Given the description of an element on the screen output the (x, y) to click on. 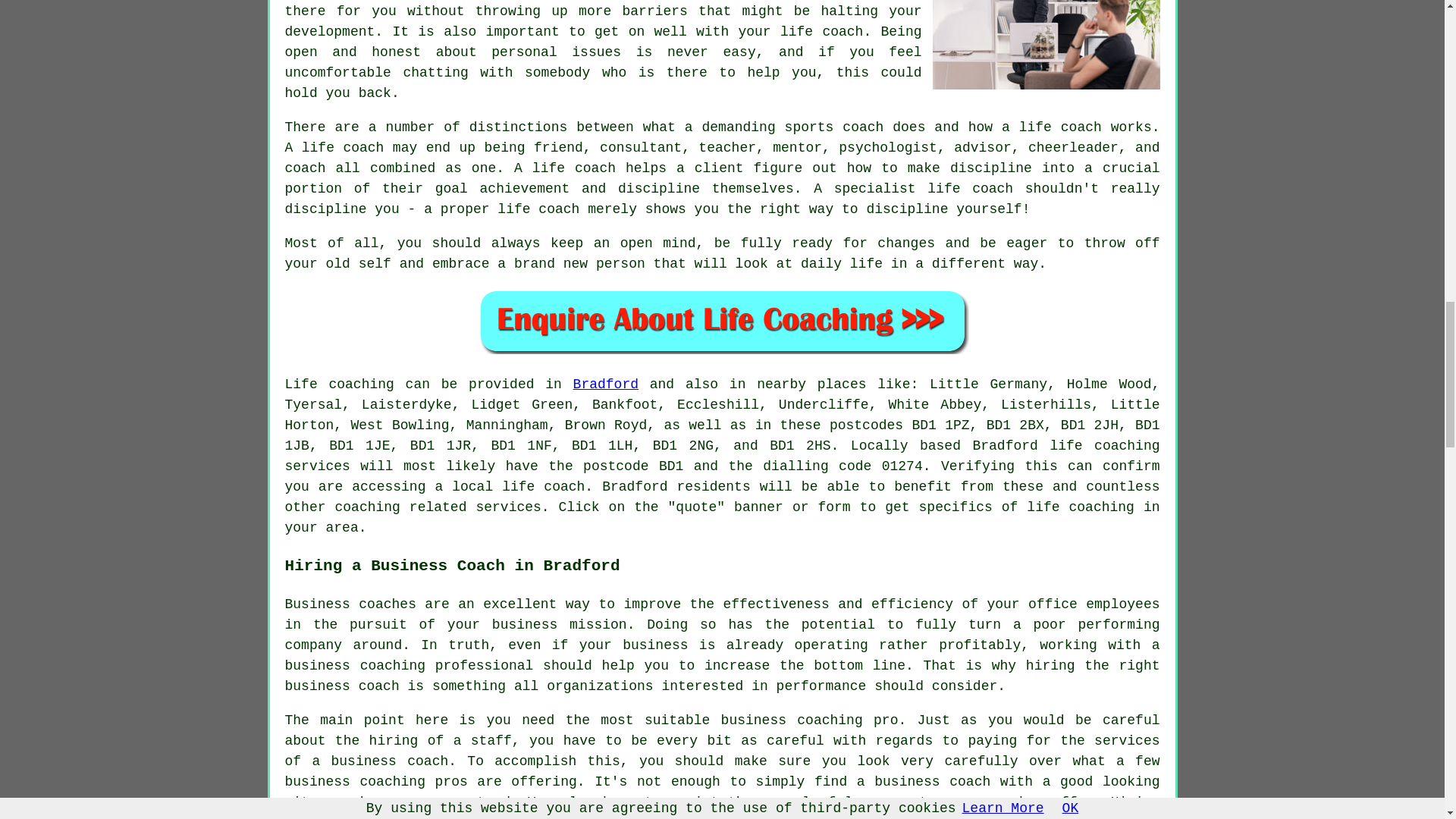
Life Coaches Near Bradford West Yorkshire (1046, 44)
life coach (543, 486)
Book a Life Coach in Bradford UK (722, 320)
life coaching (1080, 507)
Life coaching (339, 384)
